Given the description of an element on the screen output the (x, y) to click on. 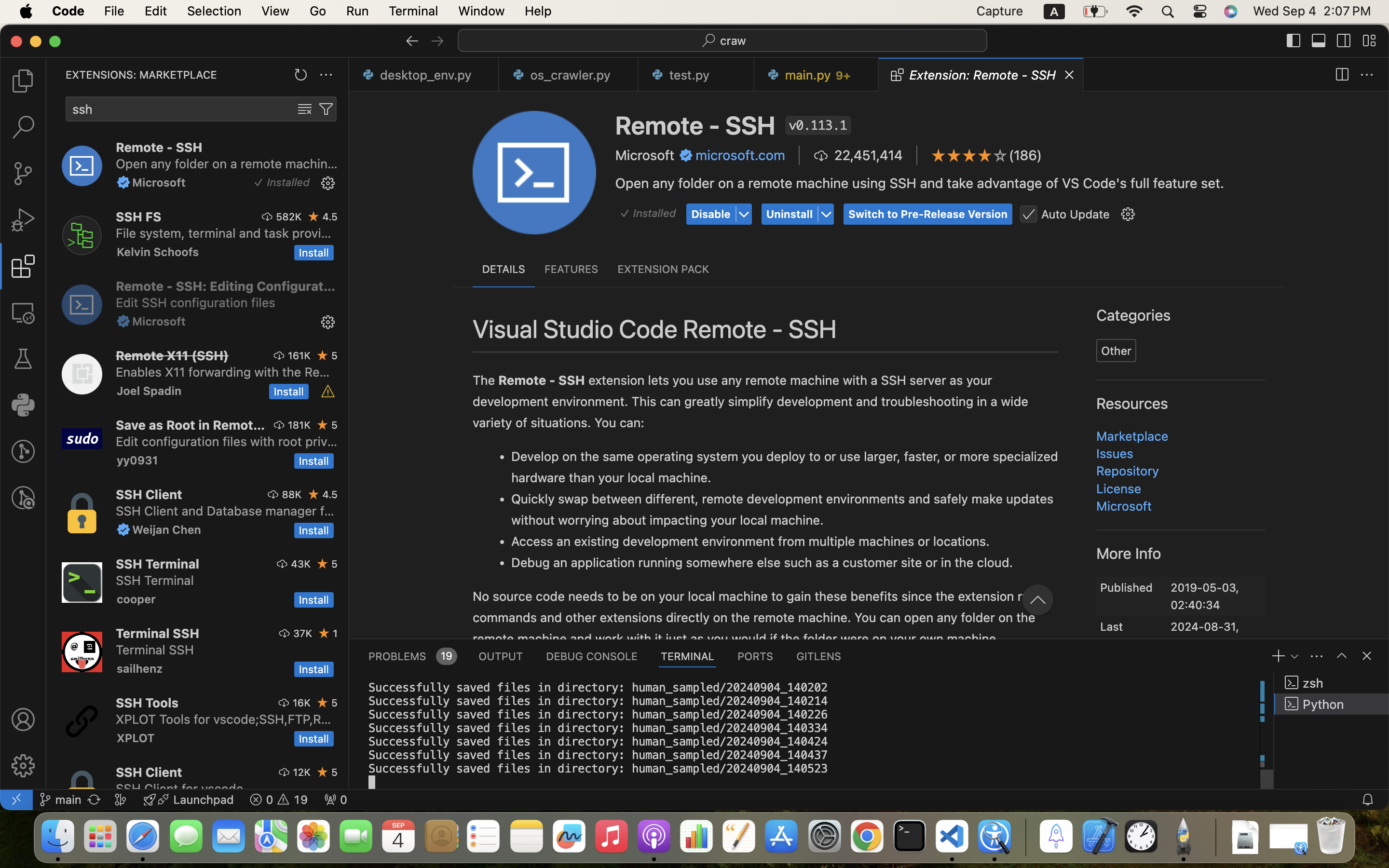
1 TERMINAL Element type: AXRadioButton (687, 655)
0 PORTS Element type: AXRadioButton (755, 655)
The Element type: AXStaticText (485, 380)
43K Element type: AXStaticText (300, 563)
EXTENSIONS: MARKETPLACE Element type: AXStaticText (141, 74)
